Given the description of an element on the screen output the (x, y) to click on. 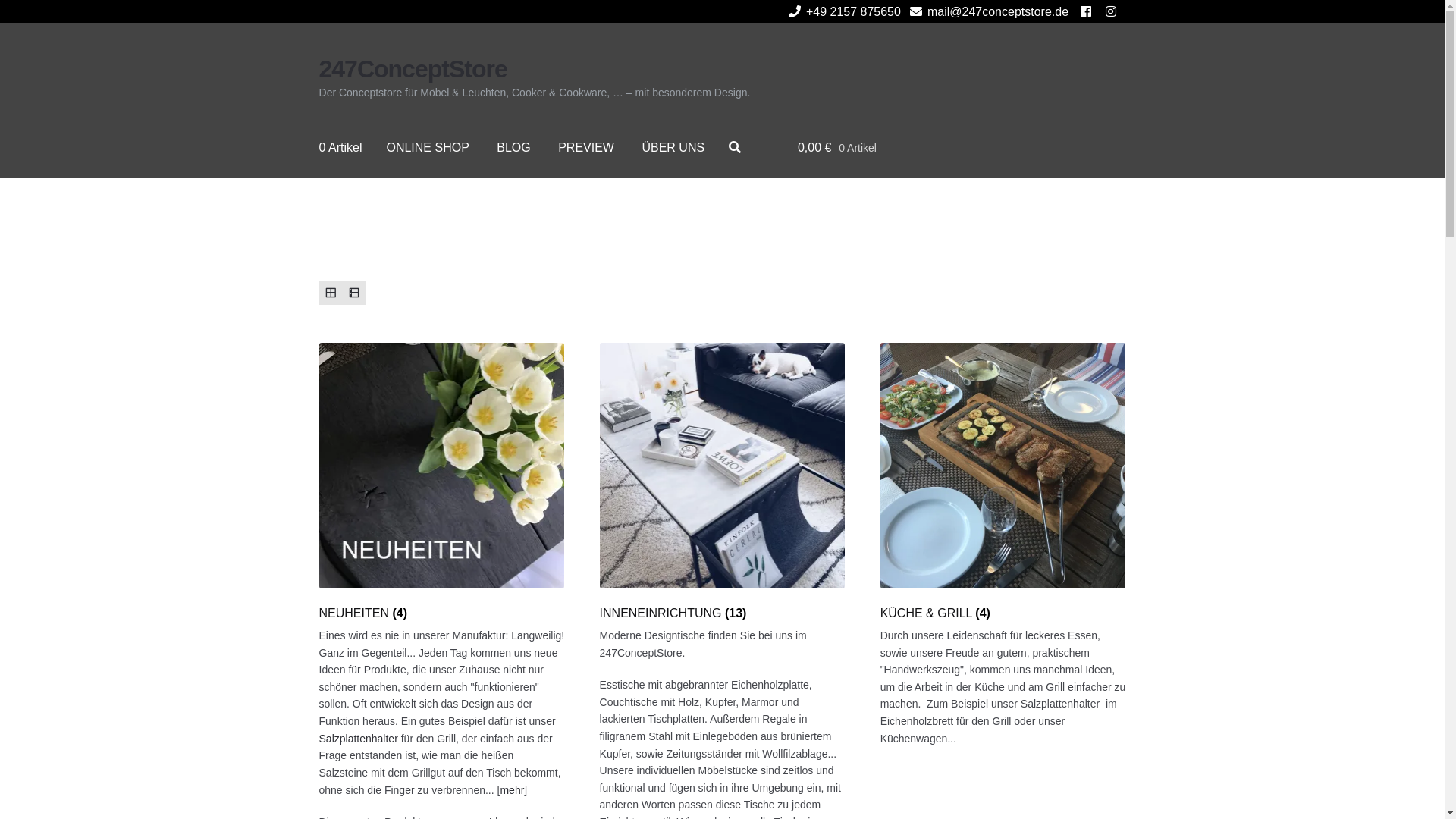
Suche Element type: text (35, 9)
+49 2157 875650 Element type: text (841, 11)
247ConceptStore Element type: text (413, 68)
Salzplattenhalter Element type: text (358, 738)
Zur Navigation springen Element type: text (318, 53)
INNENEINRICHTUNG (13) Element type: text (722, 481)
ONLINE SHOP Element type: text (426, 147)
NEUHEITEN (4) Element type: text (441, 481)
mehr Element type: text (511, 790)
Rasteransicht Element type: hover (330, 292)
Listenansicht Element type: hover (354, 292)
BLOG Element type: text (513, 147)
PREVIEW Element type: text (586, 147)
0 Artikel Element type: text (340, 147)
mail@247conceptstore.de Element type: text (986, 11)
